Given the description of an element on the screen output the (x, y) to click on. 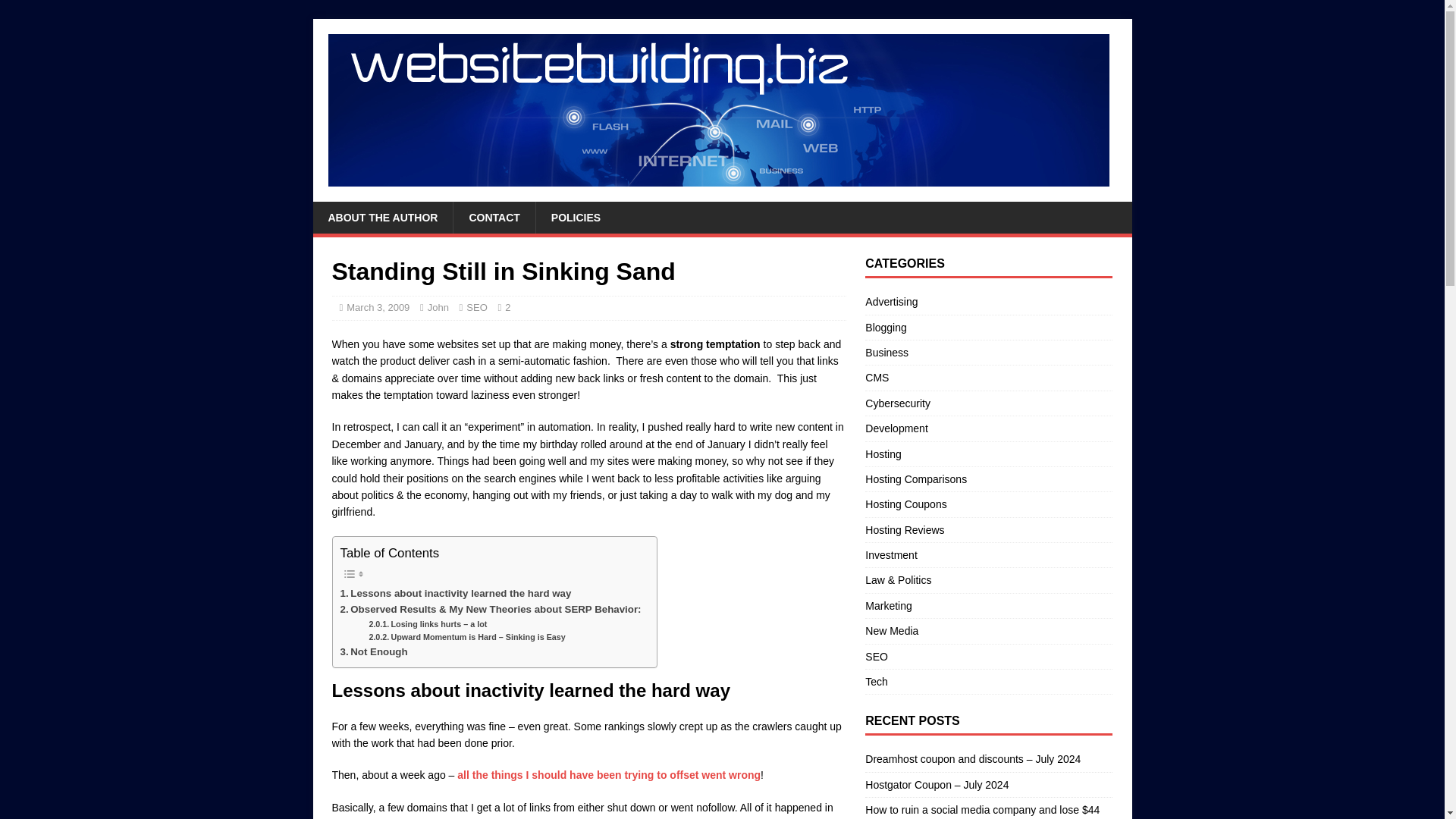
Hosting Reviews (988, 529)
Lessons about inactivity learned the hard way (454, 593)
Development (988, 428)
Not Enough (373, 651)
Marketing (988, 605)
Hosting (988, 454)
ABOUT THE AUTHOR (382, 217)
CMS (988, 377)
Cybersecurity (988, 403)
Not Enough (373, 651)
POLICIES (575, 217)
Tech (988, 681)
Advertising (988, 303)
March 3, 2009 (377, 307)
Hosting Coupons (988, 504)
